Given the description of an element on the screen output the (x, y) to click on. 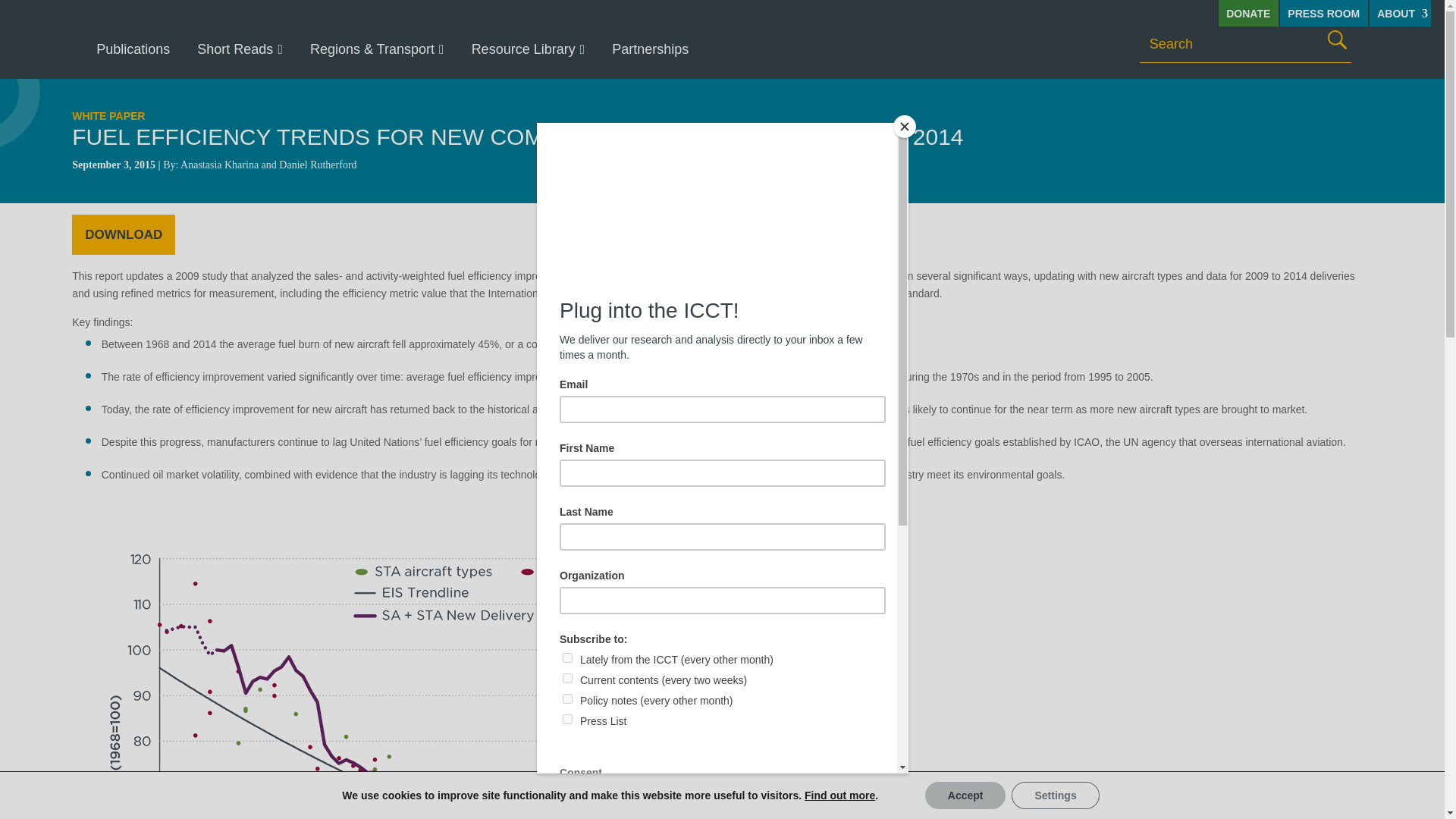
Publications (132, 48)
PRESS ROOM (1323, 13)
Search (1337, 40)
ABOUT (1400, 13)
Search (1337, 40)
DONATE (1248, 13)
Short Reads (240, 48)
